Given the description of an element on the screen output the (x, y) to click on. 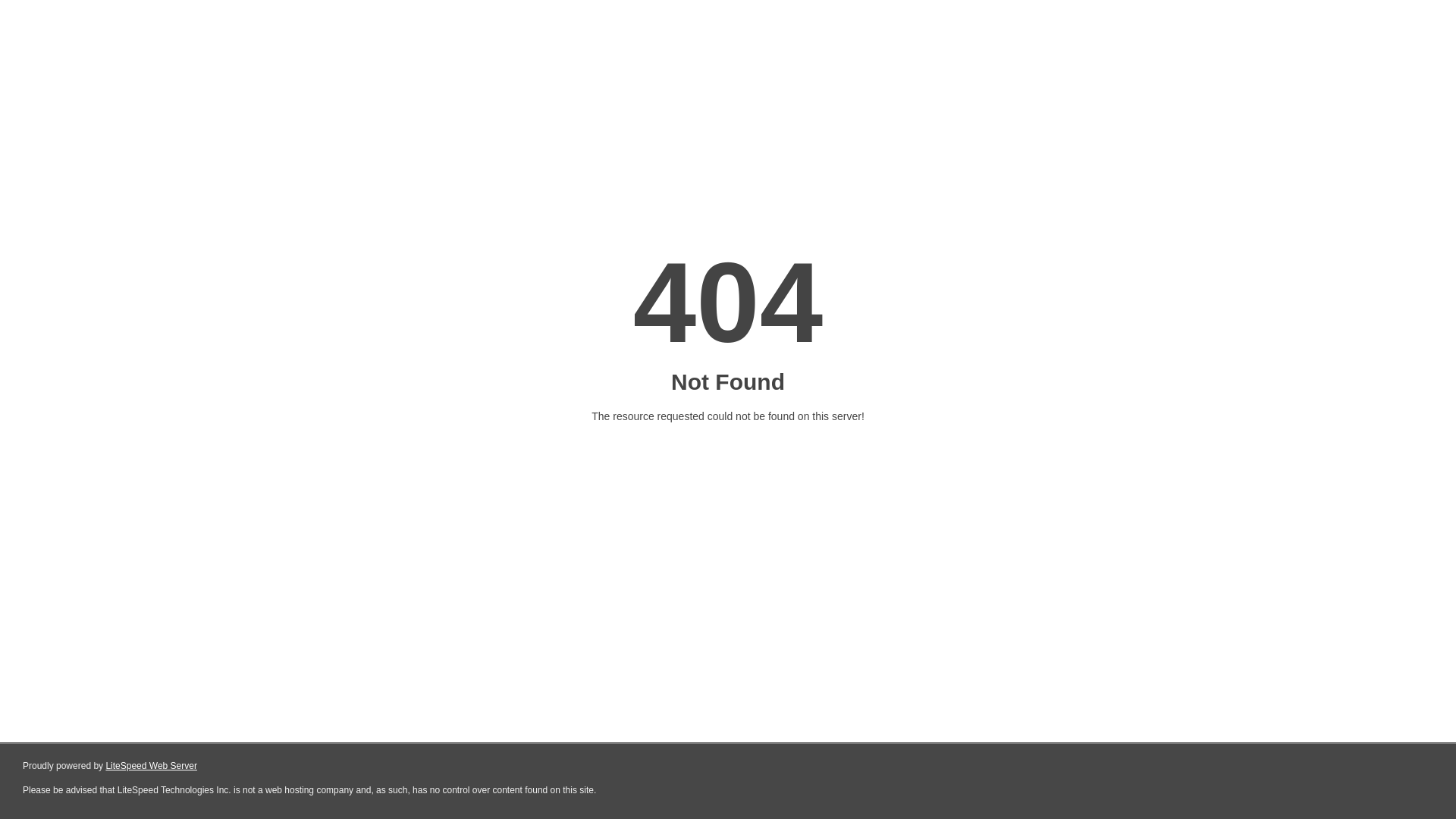
LiteSpeed Web Server Element type: text (151, 765)
